Given the description of an element on the screen output the (x, y) to click on. 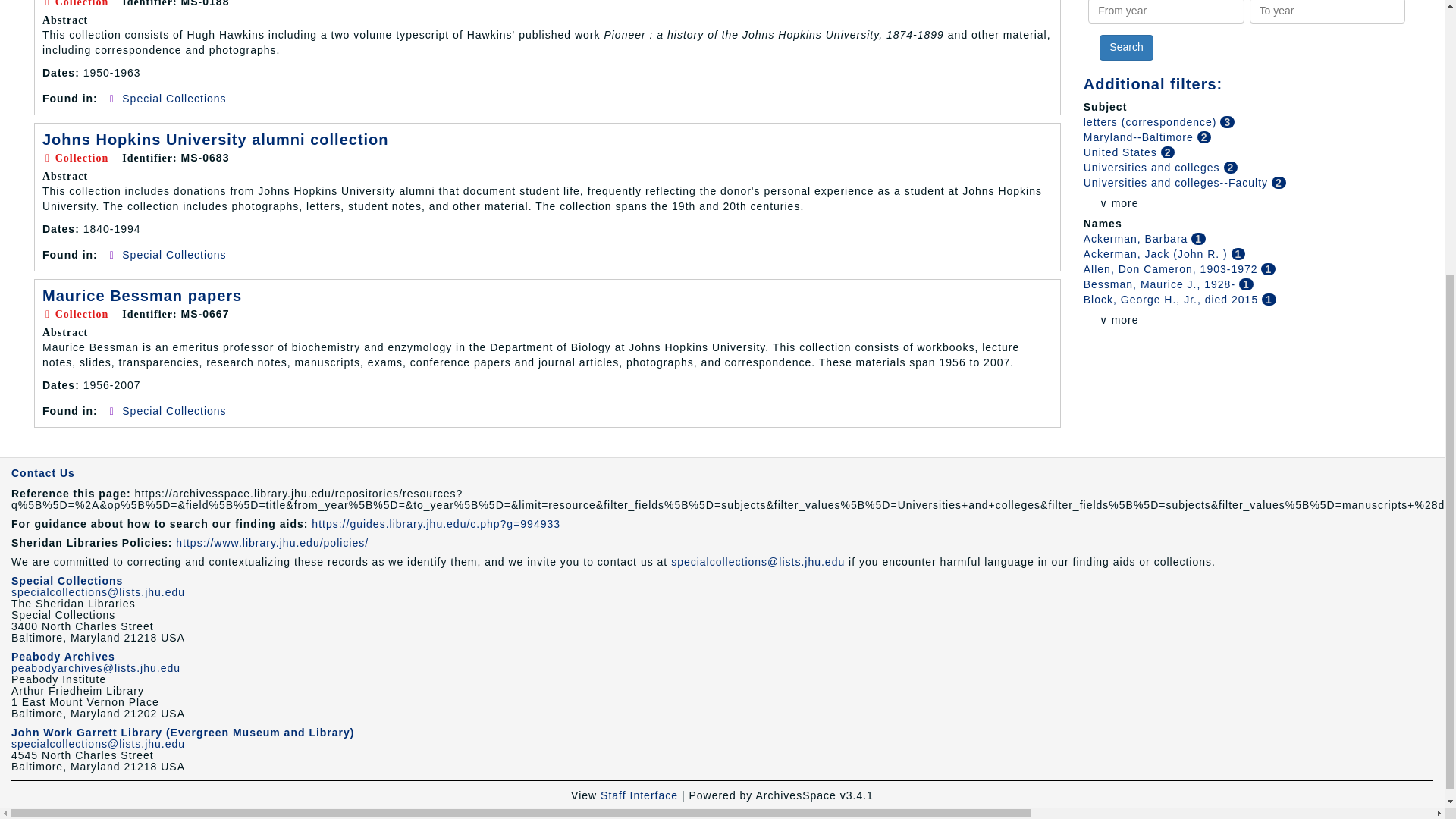
Filter By 'Universities and colleges--Faculty' (1177, 182)
Special Collections (173, 98)
Special Collections (173, 254)
Maurice Bessman papers (141, 295)
Search (1126, 47)
Filter By 'Universities and colleges' (1153, 167)
United States (1121, 152)
Filter By 'United States' (1121, 152)
Special Collections (173, 410)
Johns Hopkins University alumni collection (215, 139)
Search (1126, 47)
Universities and colleges--Faculty (1177, 182)
Universities and colleges (1153, 167)
Maryland--Baltimore (1139, 137)
Filter By 'Maryland--Baltimore' (1139, 137)
